Given the description of an element on the screen output the (x, y) to click on. 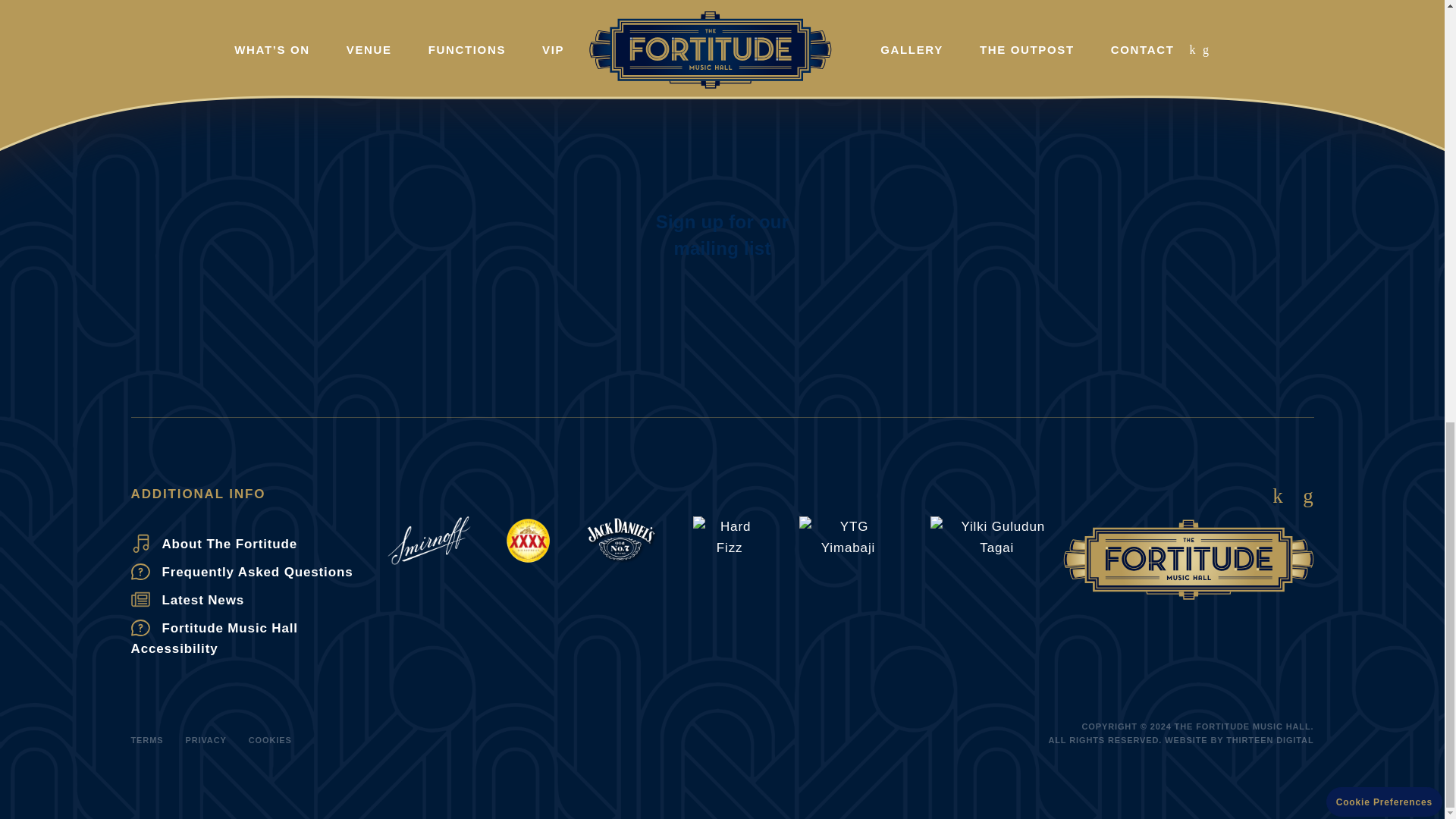
PRIVACY (204, 739)
COOKIES (270, 739)
Latest News (259, 599)
Frequently Asked Questions (259, 571)
TERMS (147, 739)
About The Fortitude (259, 543)
Fortitude Music Hall Accessibility (259, 638)
